Given the description of an element on the screen output the (x, y) to click on. 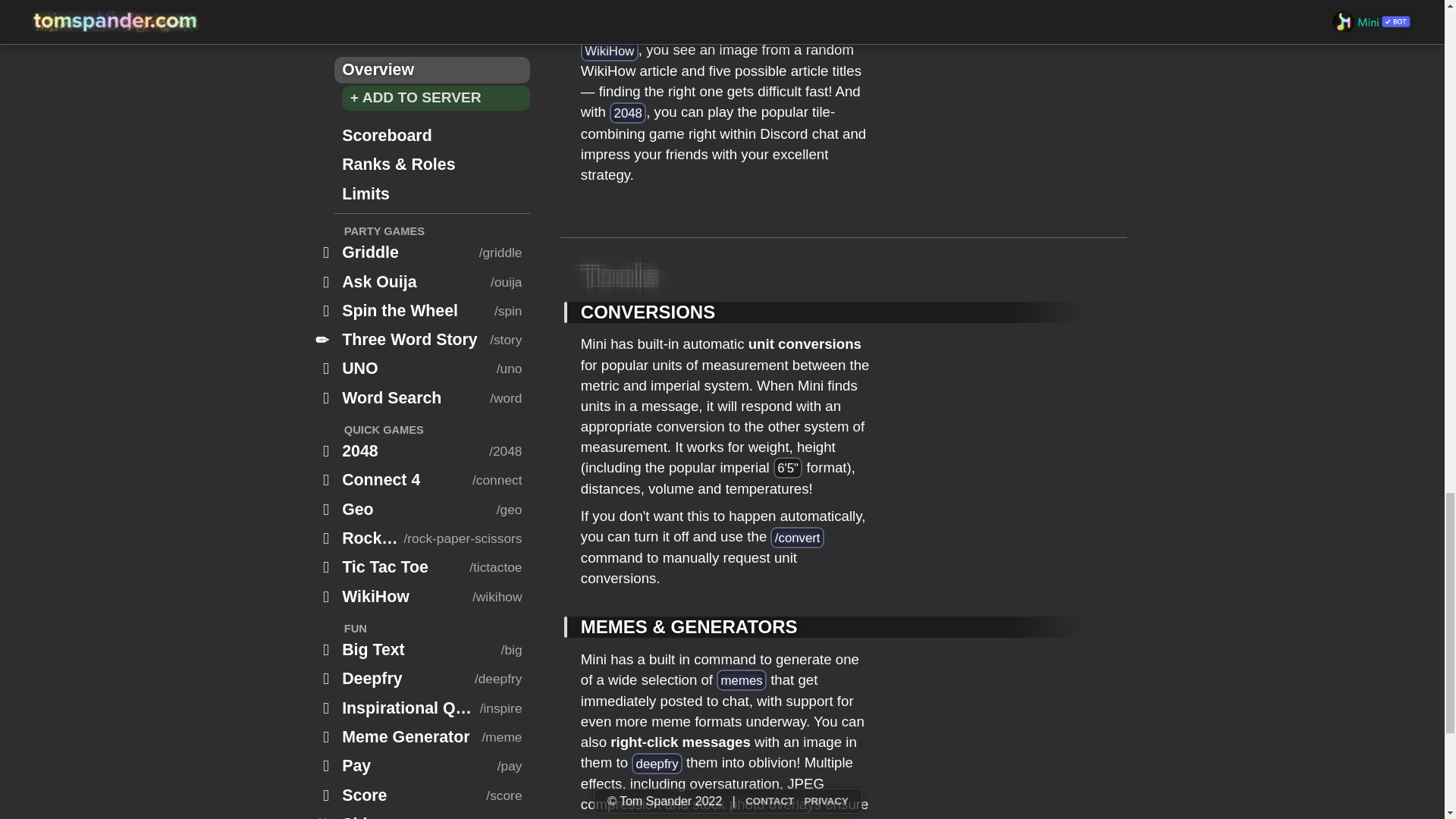
memes (741, 680)
2048 (628, 112)
WikiHow (609, 50)
deepfry (656, 762)
